Given the description of an element on the screen output the (x, y) to click on. 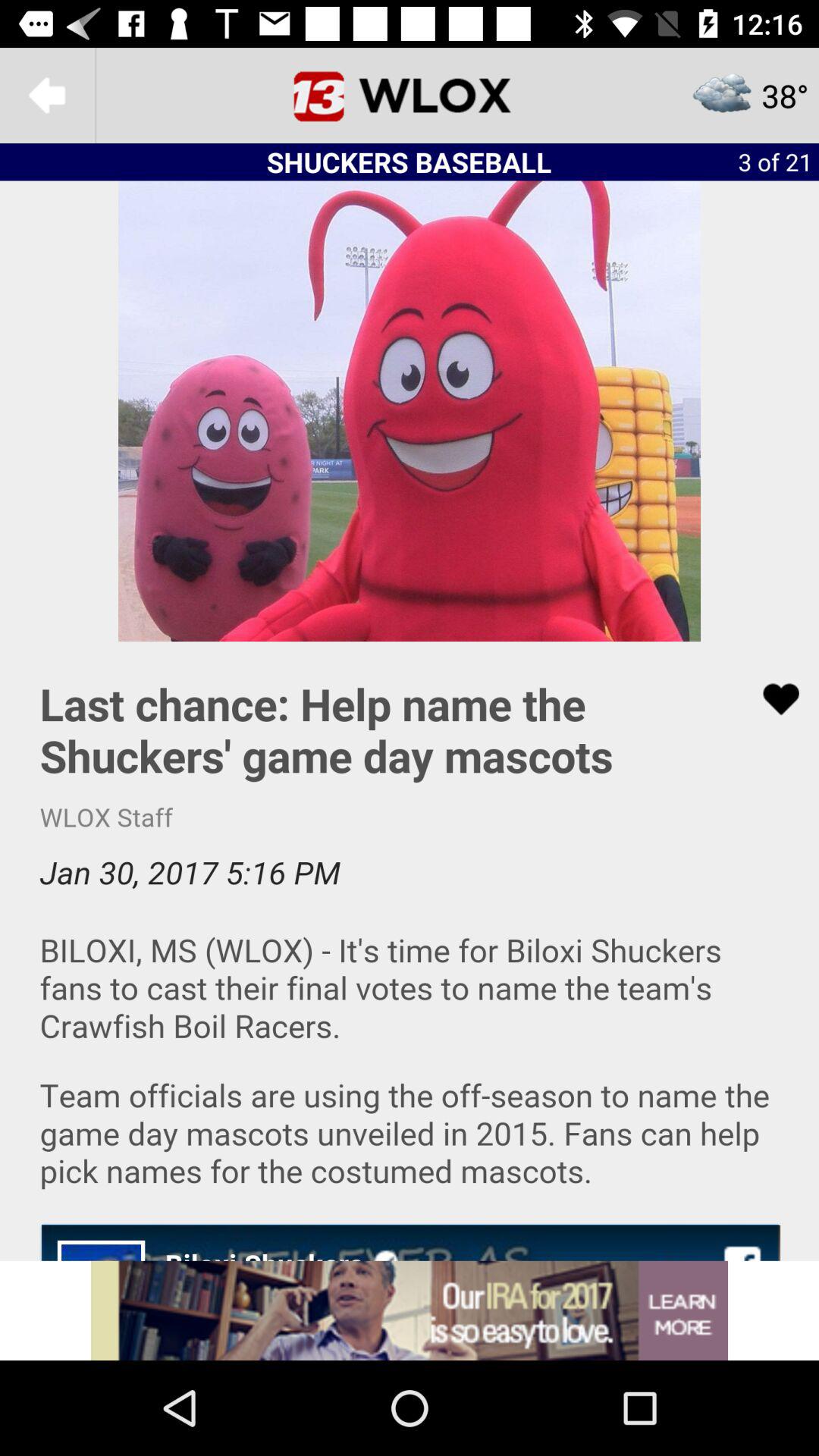
love it (771, 699)
